Given the description of an element on the screen output the (x, y) to click on. 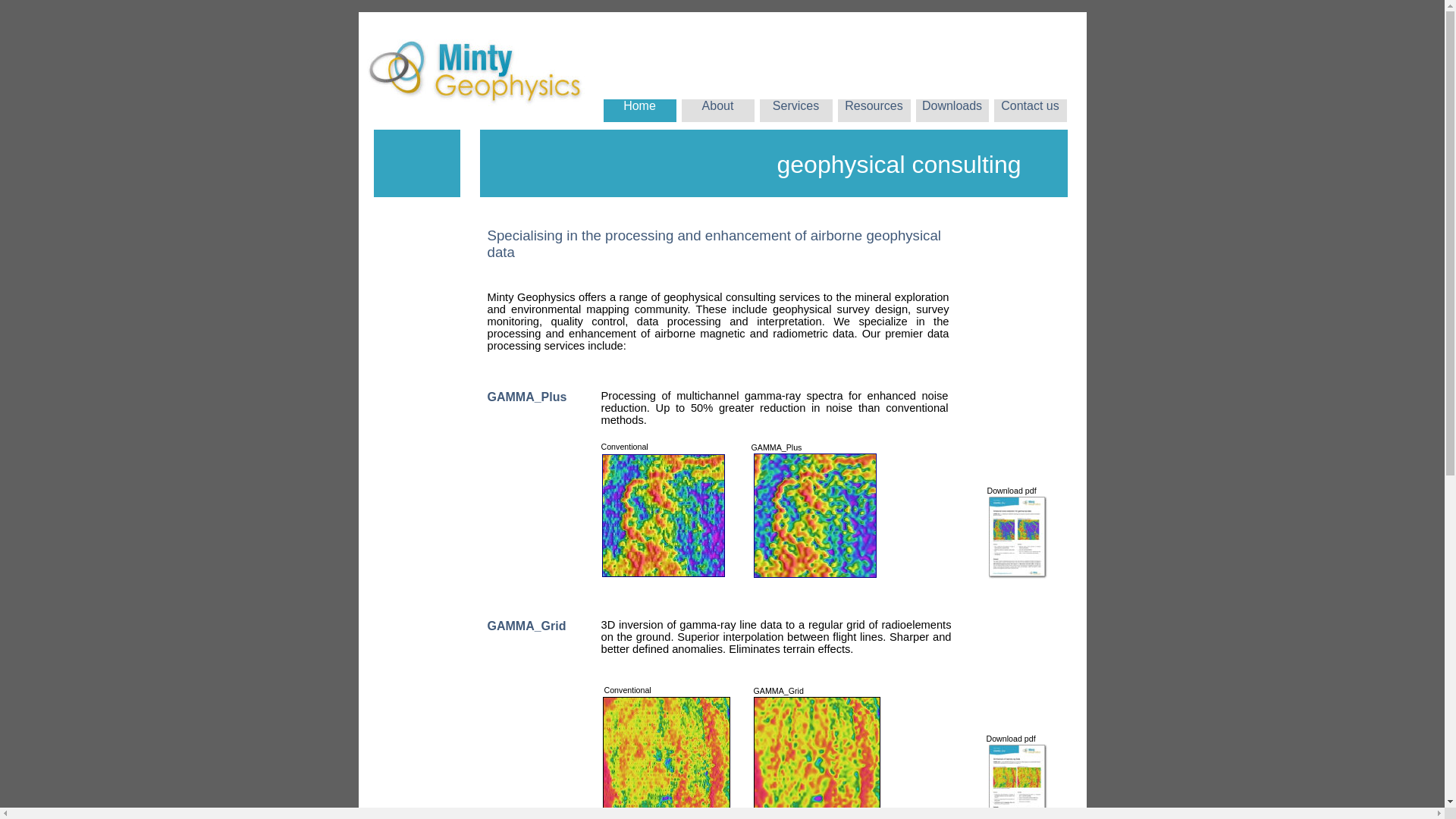
Services Element type: text (795, 105)
Contact us Element type: text (1029, 105)
About Element type: text (716, 105)
Home
  Element type: text (639, 118)
Downloads Element type: text (952, 105)
GAMMA_Plus Element type: text (529, 397)
Resources Element type: text (873, 105)
GAMMA_Grid Element type: text (529, 626)
